Given the description of an element on the screen output the (x, y) to click on. 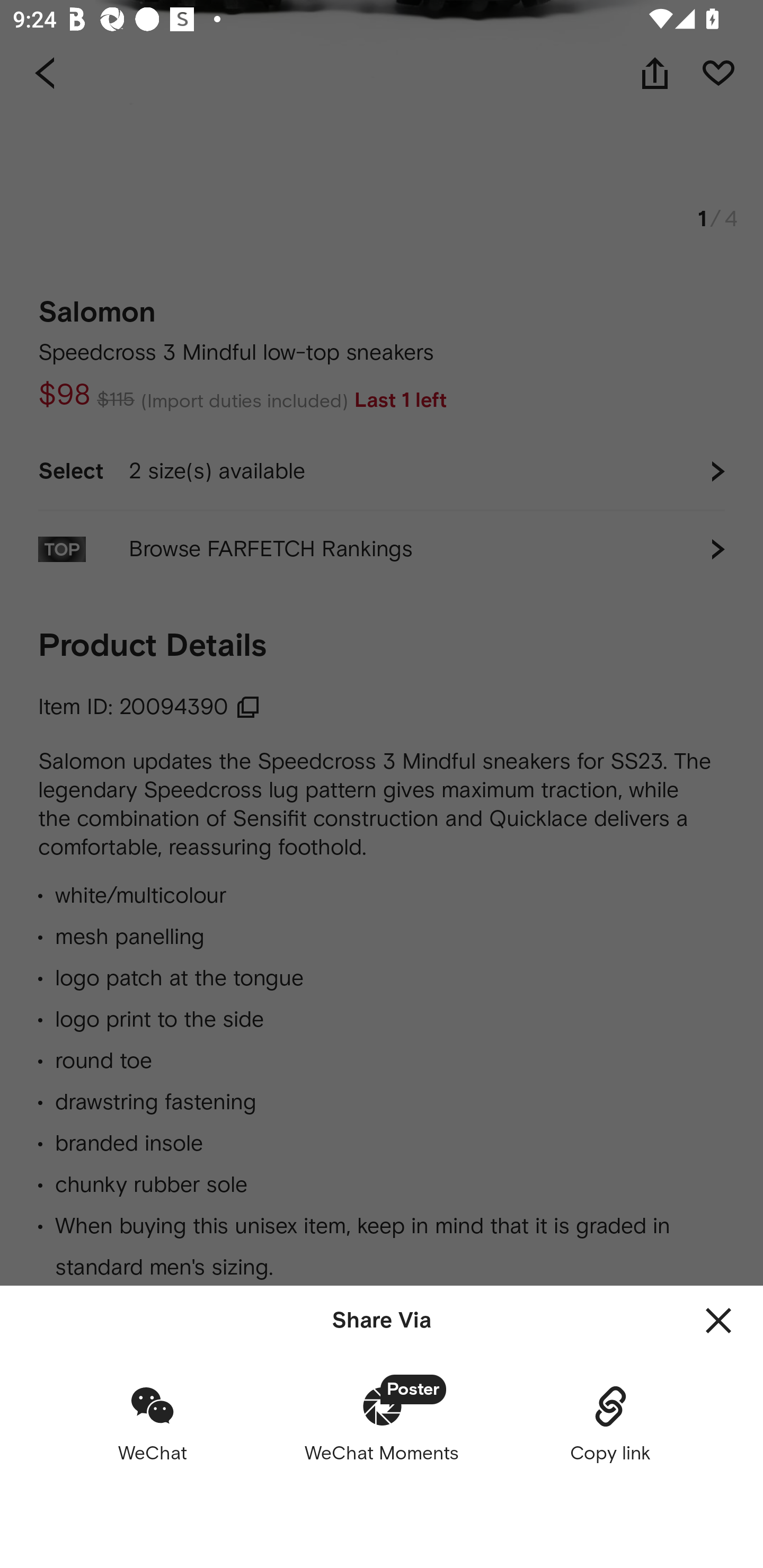
WeChat (152, 1423)
WeChat Moments Poster (381, 1423)
Copy link (609, 1423)
